Given the description of an element on the screen output the (x, y) to click on. 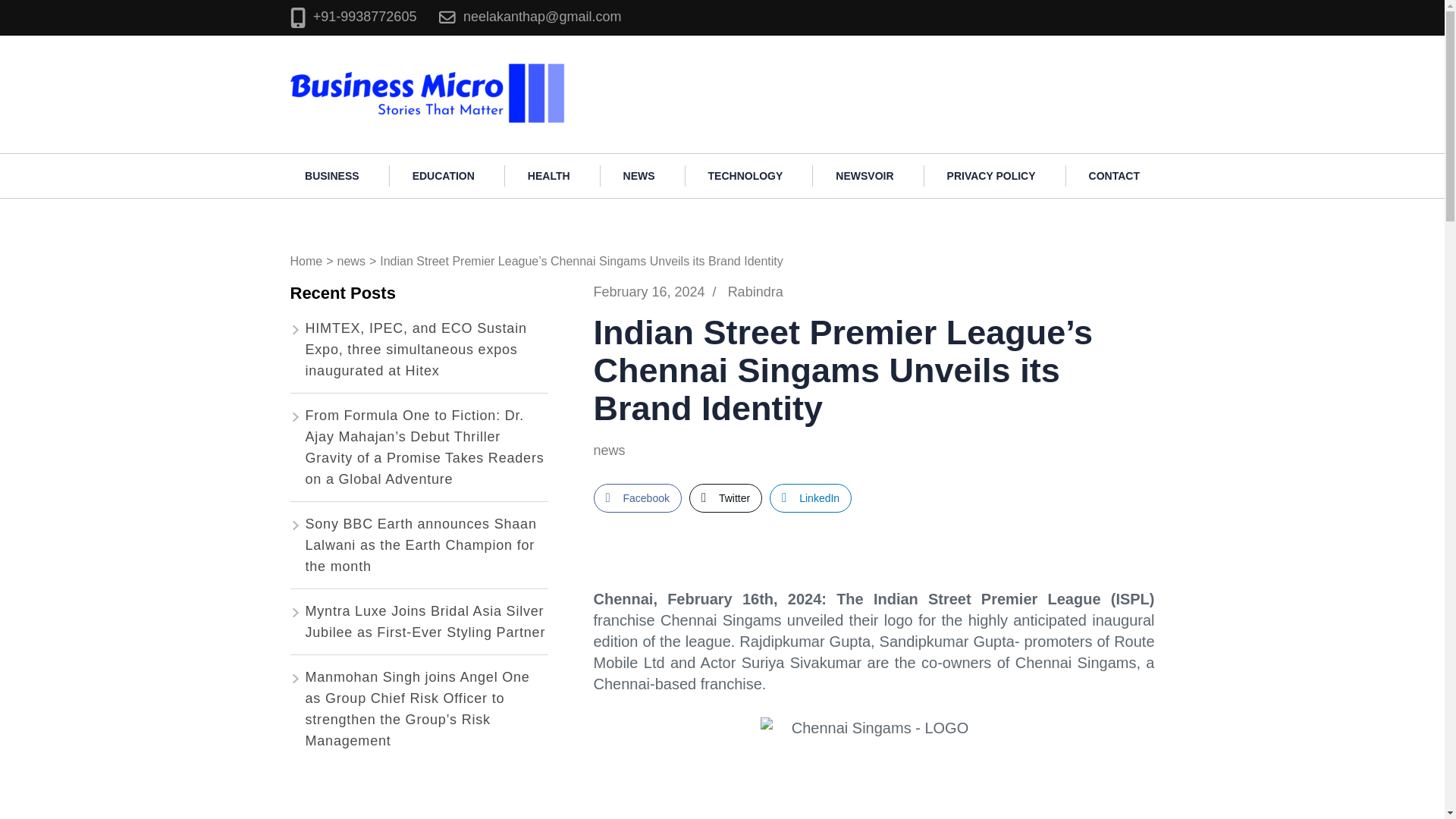
Home (305, 260)
Business Micro (628, 68)
February 16, 2024 (648, 291)
Rabindra (755, 291)
LinkedIn (810, 498)
NEWS (639, 175)
Facebook (636, 498)
NEWSVOIR (863, 175)
PRIVACY POLICY (991, 175)
CONTACT (1113, 175)
